Given the description of an element on the screen output the (x, y) to click on. 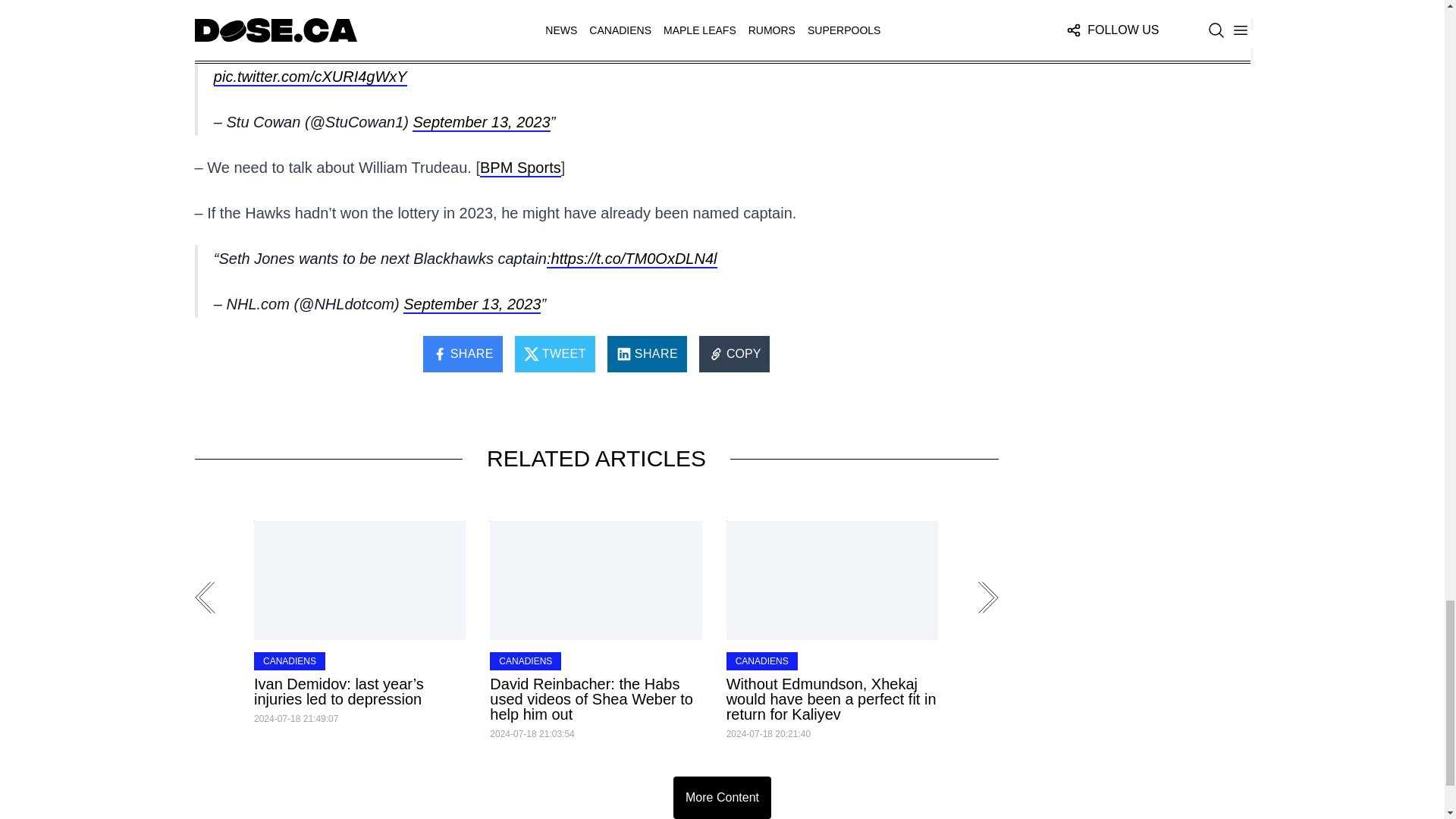
September 13, 2023 (471, 304)
SHARE (462, 353)
CANADIENS (288, 660)
SHARE (647, 353)
CANADIENS (526, 660)
September 13, 2023 (481, 122)
TWEET (555, 353)
COPY (734, 353)
BPM Sports (520, 167)
